Given the description of an element on the screen output the (x, y) to click on. 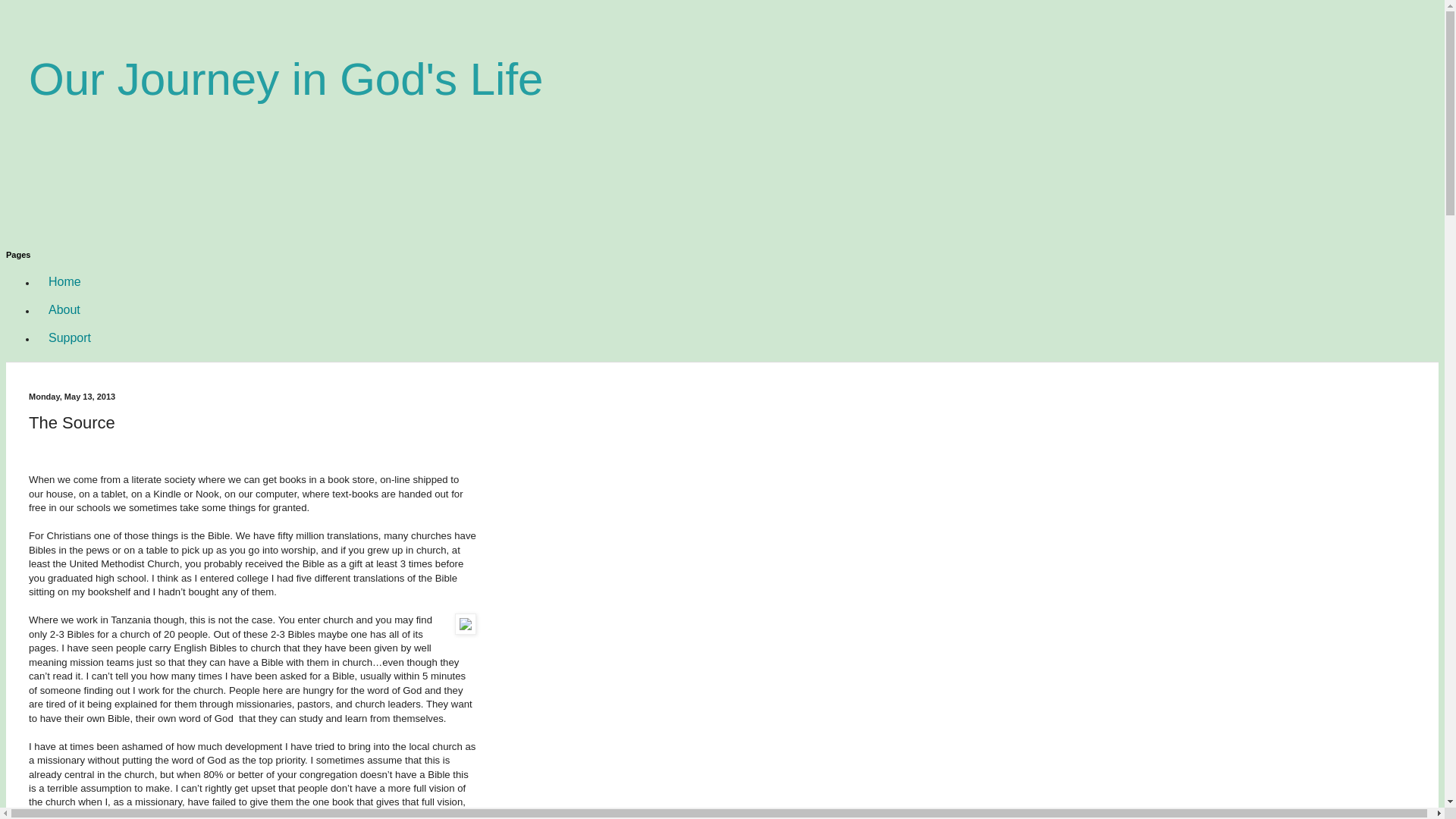
Our Journey in God's Life (286, 79)
Support (69, 337)
Home (64, 281)
About (64, 309)
